Given the description of an element on the screen output the (x, y) to click on. 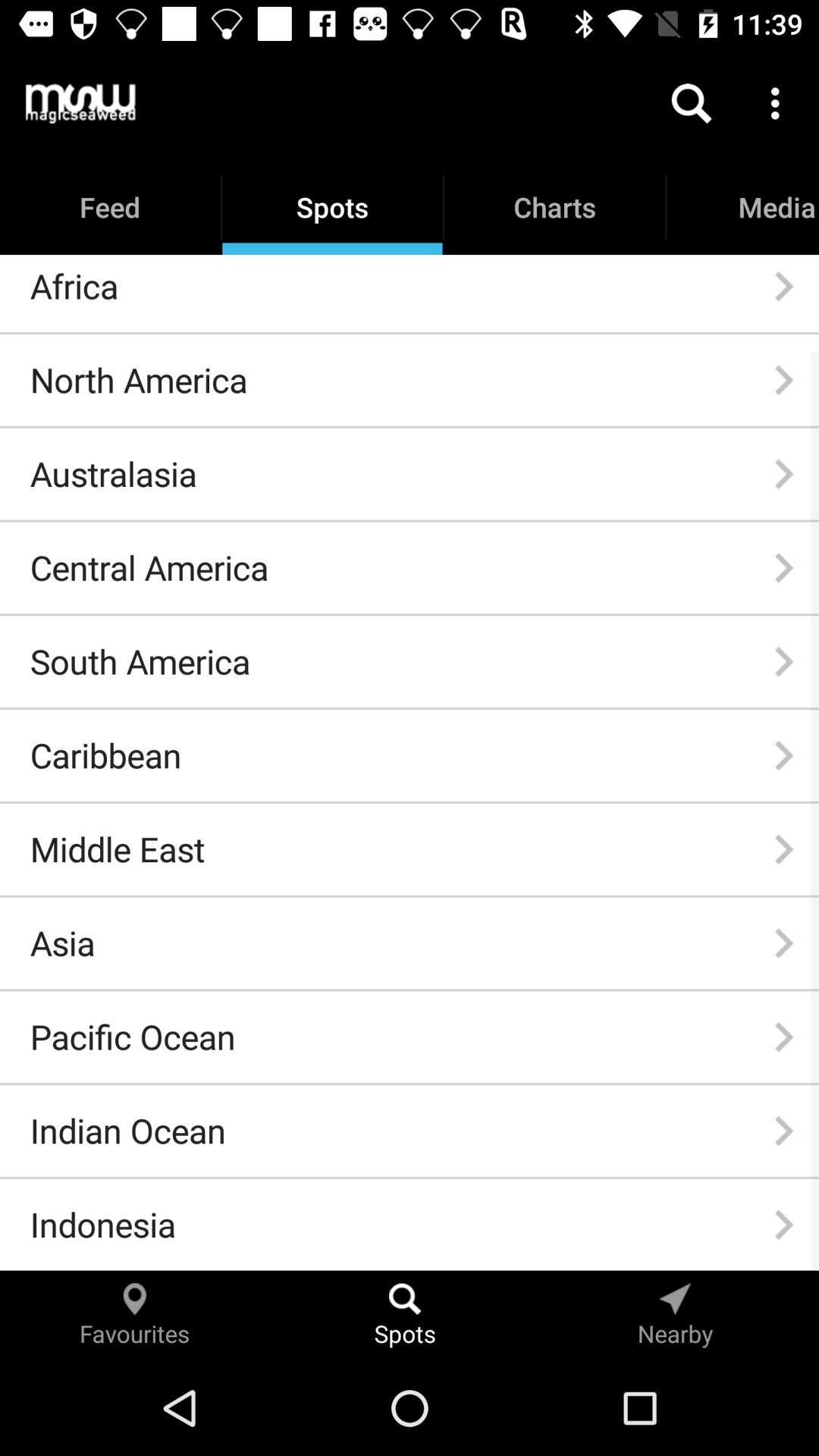
tap the item to the left of spots item (80, 103)
